Given the description of an element on the screen output the (x, y) to click on. 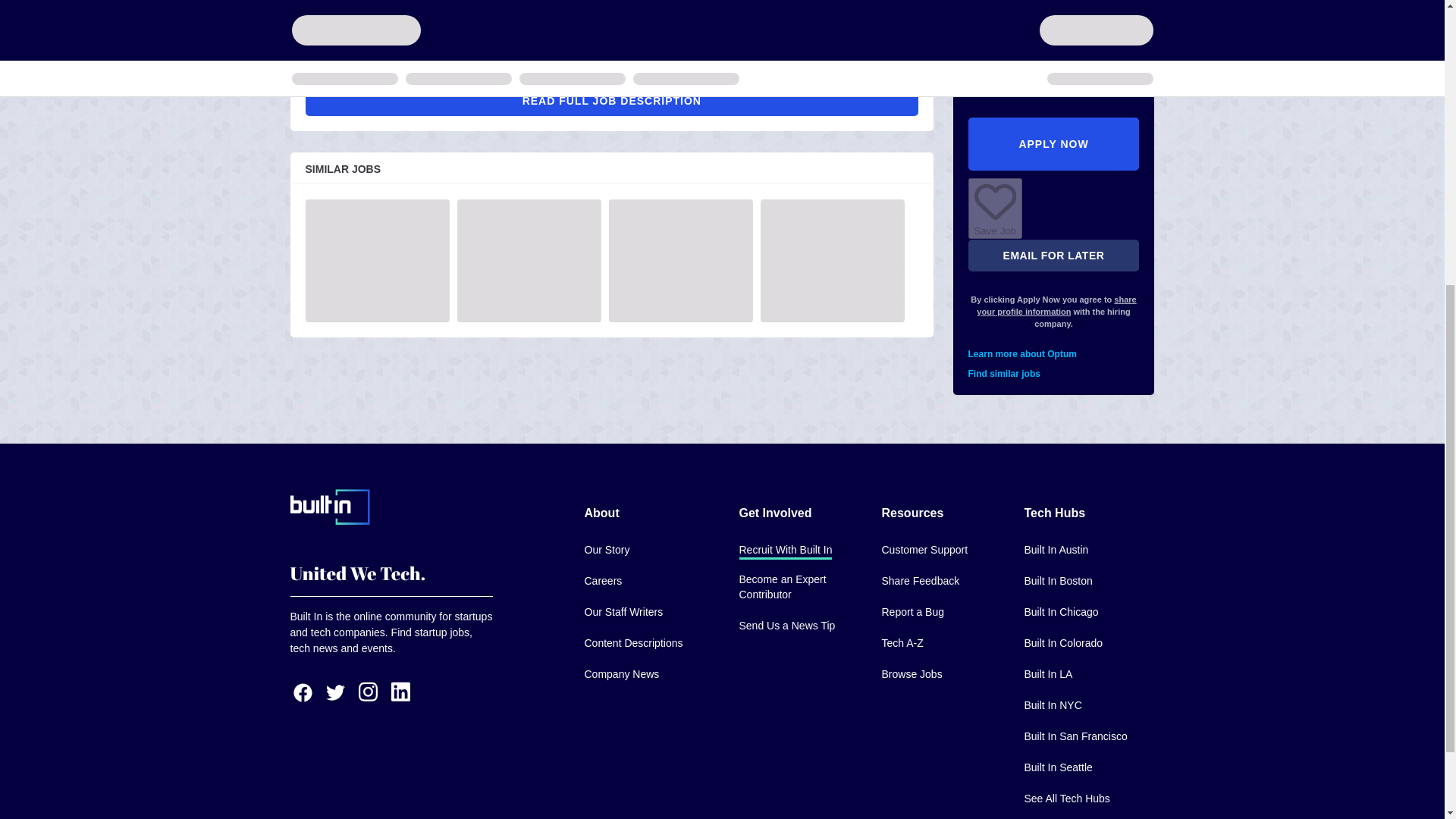
Share Feedback (919, 581)
Send Us a News Tip (786, 626)
Our Story (605, 550)
Careers (602, 581)
Tech A-Z (901, 643)
Report a Bug (911, 612)
Learn more about Optum (1054, 35)
Recruit With Built In (784, 550)
Become an Expert Contributor (797, 587)
Content Descriptions (632, 643)
Our Staff Writers (622, 612)
Company News (621, 674)
Customer Support (924, 550)
Find similar jobs (1054, 54)
